Given the description of an element on the screen output the (x, y) to click on. 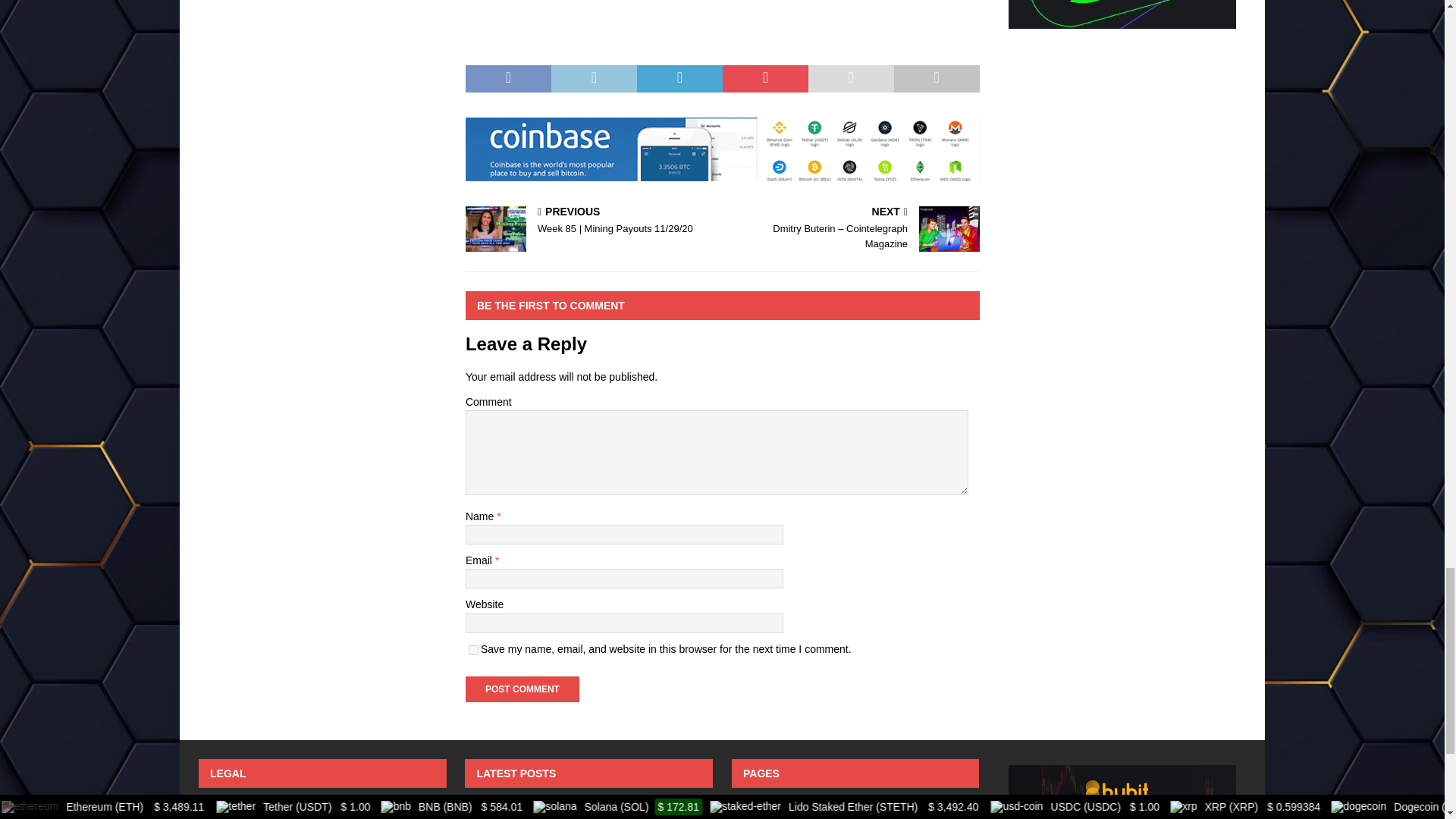
Post Comment (522, 688)
yes (473, 649)
